Given the description of an element on the screen output the (x, y) to click on. 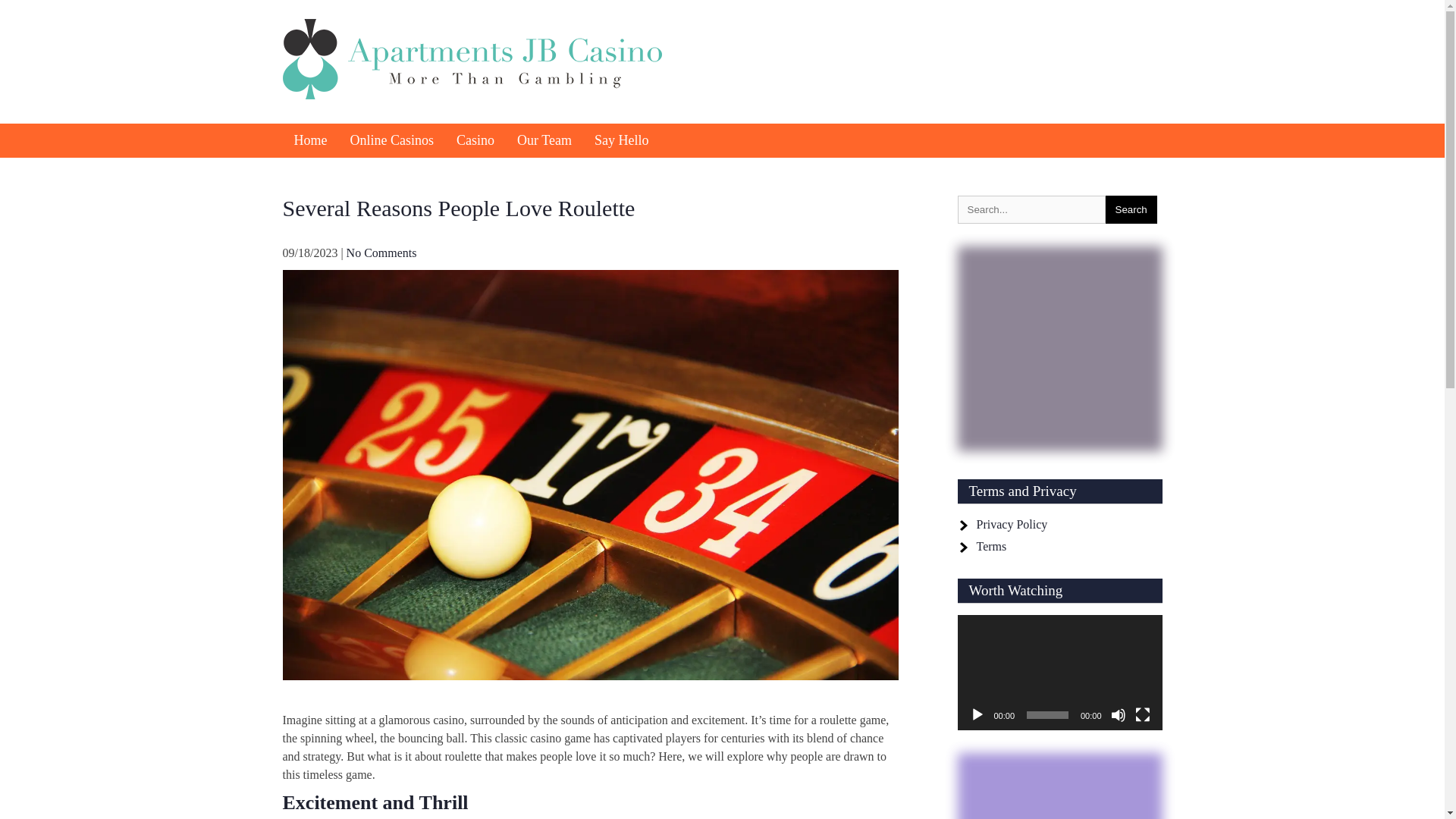
Search (1131, 209)
Search (1131, 209)
No Comments (381, 252)
Fullscreen (1142, 714)
Our Team (544, 140)
Online Casinos (391, 140)
Search (1131, 209)
Privacy Policy (1012, 523)
Mute (1117, 714)
Apartments JB Casino (453, 120)
Home (309, 140)
Say Hello (622, 140)
Terms (991, 545)
Casino (475, 140)
Play (976, 714)
